Given the description of an element on the screen output the (x, y) to click on. 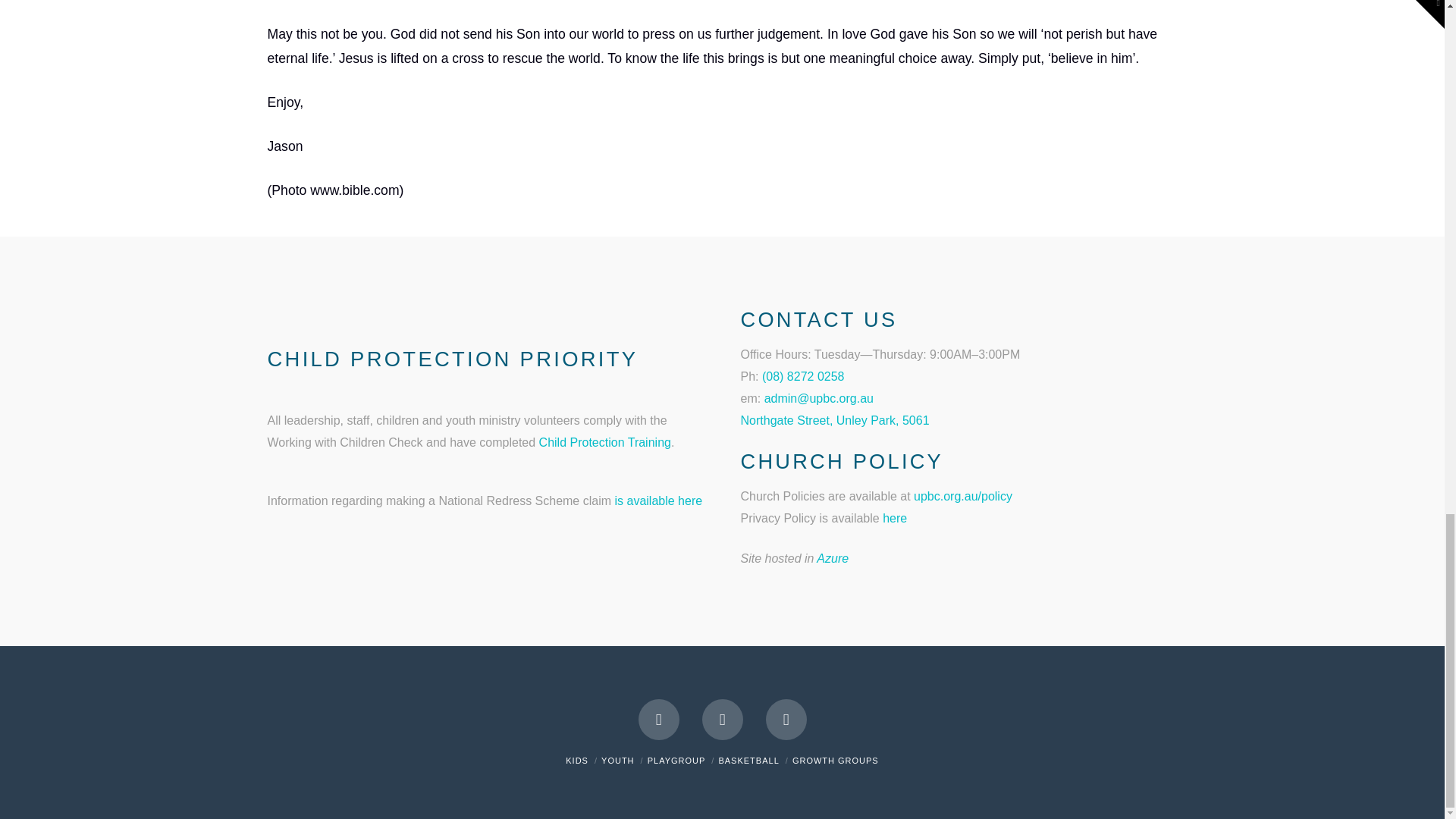
Instagram (785, 719)
Facebook (659, 719)
YouTube (721, 719)
